Given the description of an element on the screen output the (x, y) to click on. 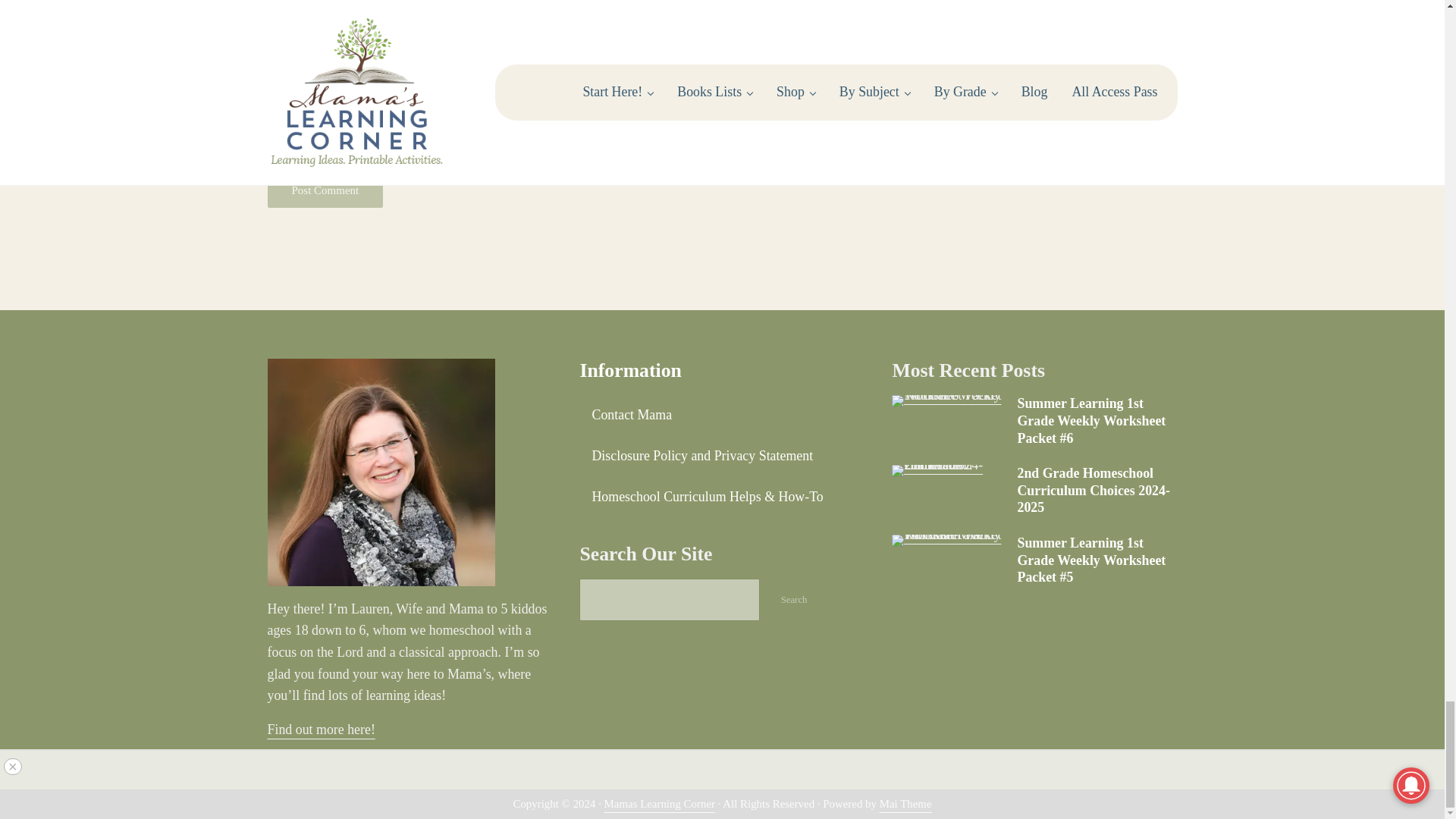
yes (274, 108)
subscribe (274, 148)
Post Comment (324, 190)
